Given the description of an element on the screen output the (x, y) to click on. 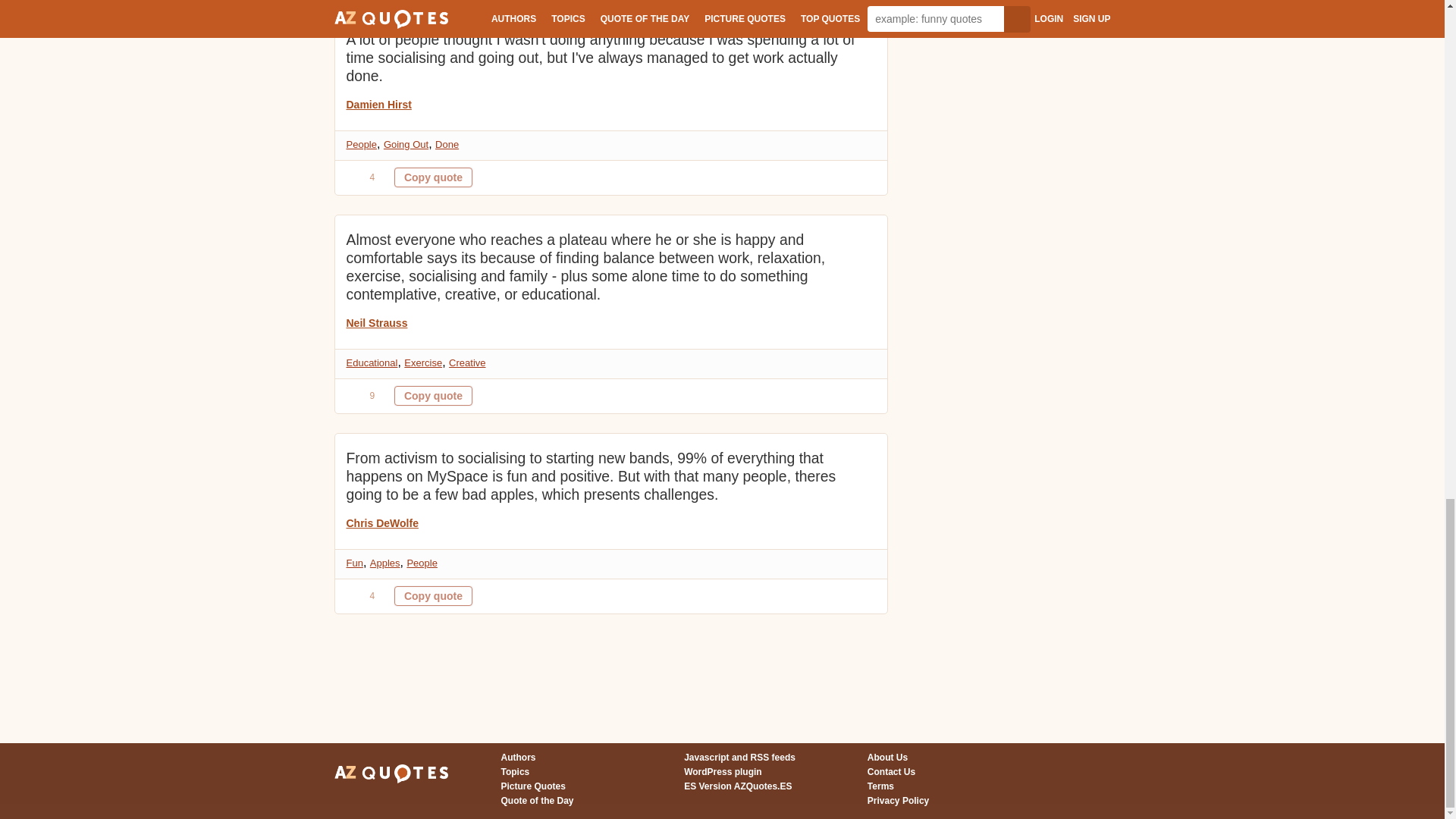
Quote is copied (432, 395)
Quote is copied (432, 177)
Quote is copied (432, 596)
